Given the description of an element on the screen output the (x, y) to click on. 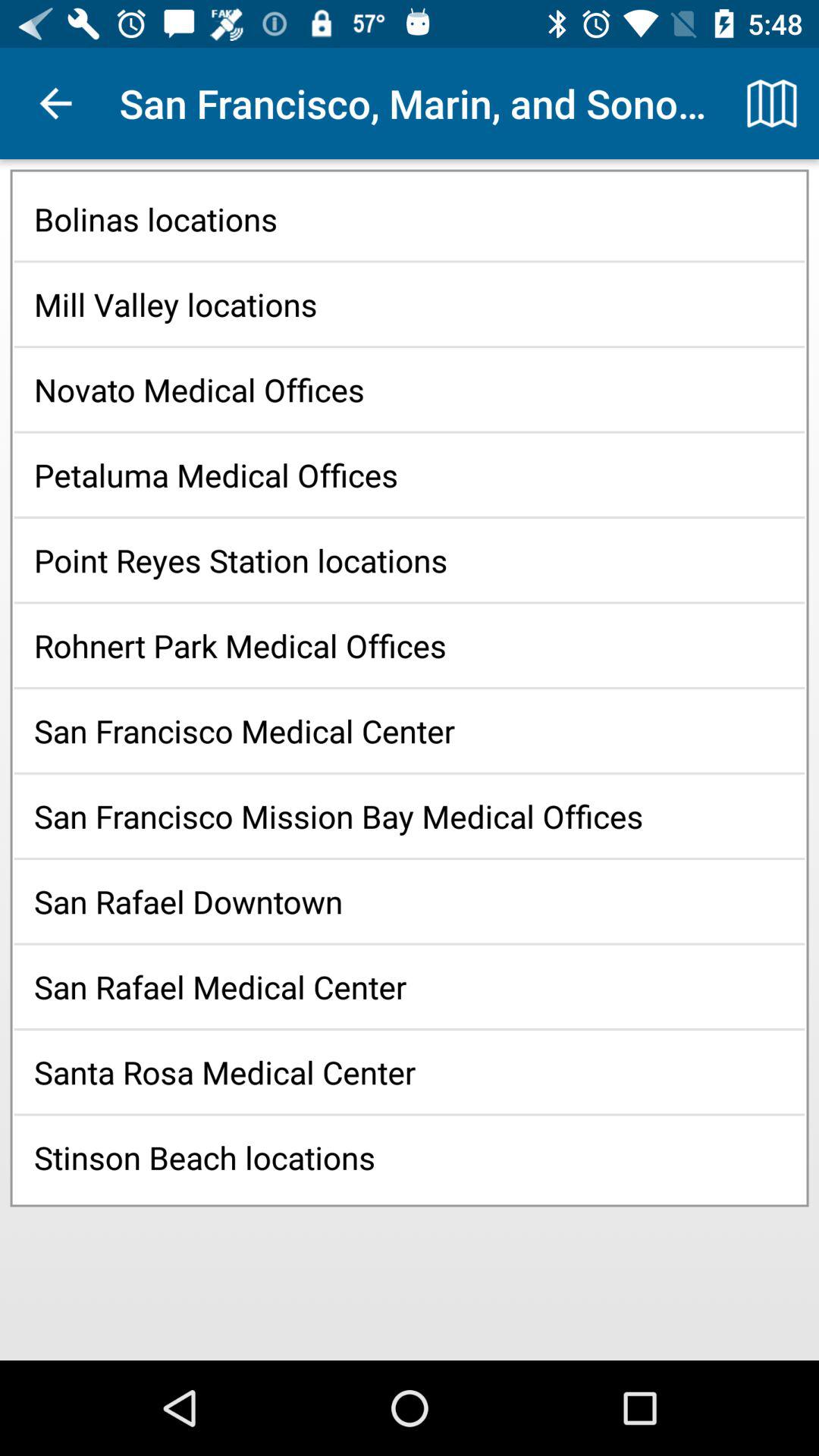
scroll to the point reyes station item (409, 559)
